Given the description of an element on the screen output the (x, y) to click on. 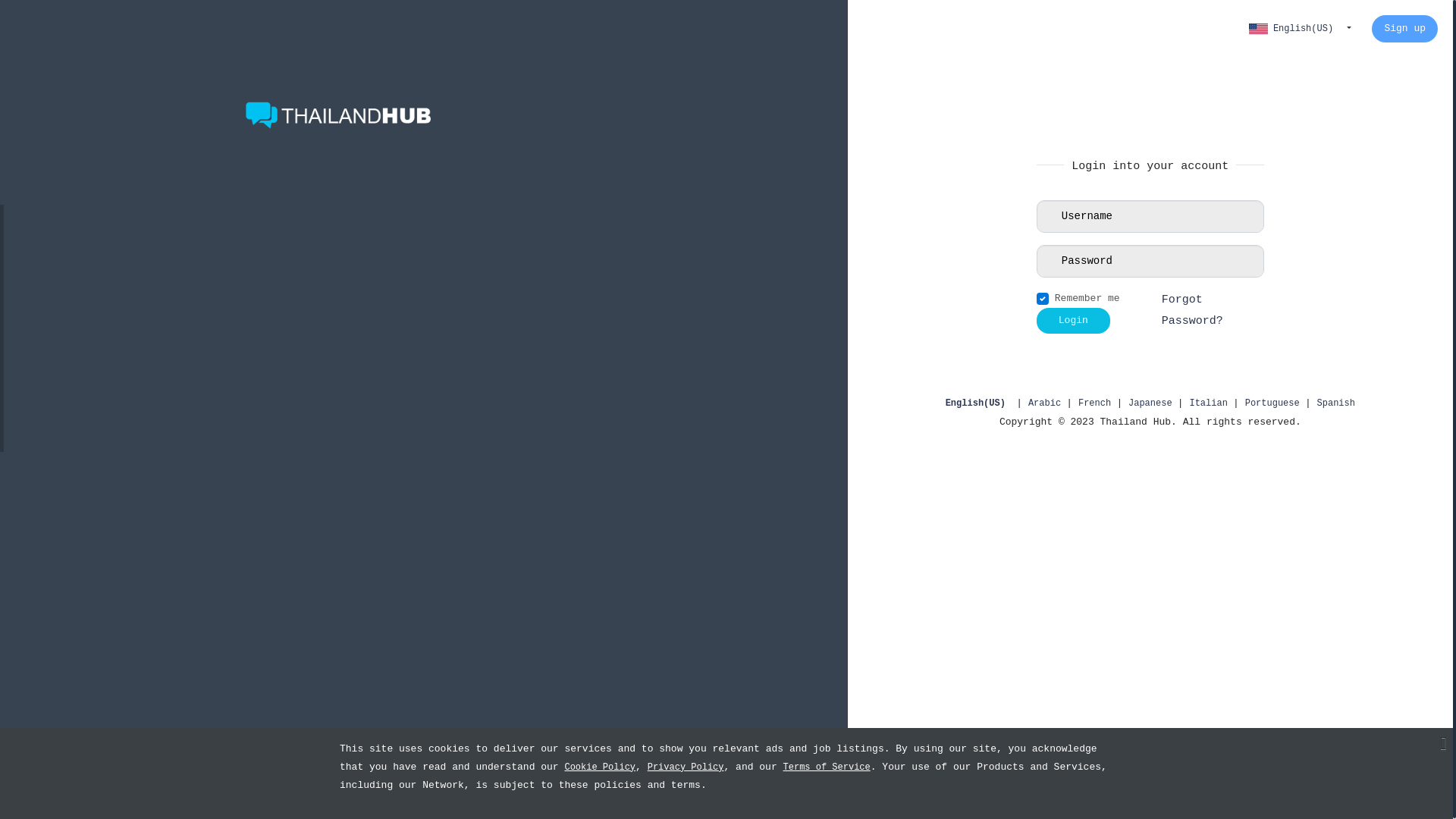
Spanish Element type: text (1336, 403)
Forgot Password? Element type: text (1212, 310)
Portuguese Element type: text (1275, 403)
Cookie Policy Element type: text (599, 767)
Japanese Element type: text (1152, 403)
French Element type: text (1097, 403)
Privacy Policy Element type: text (685, 767)
English(US) Element type: text (980, 403)
Terms of Service Element type: text (826, 767)
Sign up Element type: text (1404, 28)
English(US) Element type: text (1299, 28)
Arabic Element type: text (1047, 403)
Login Element type: text (1073, 320)
Italian Element type: text (1211, 403)
